Given the description of an element on the screen output the (x, y) to click on. 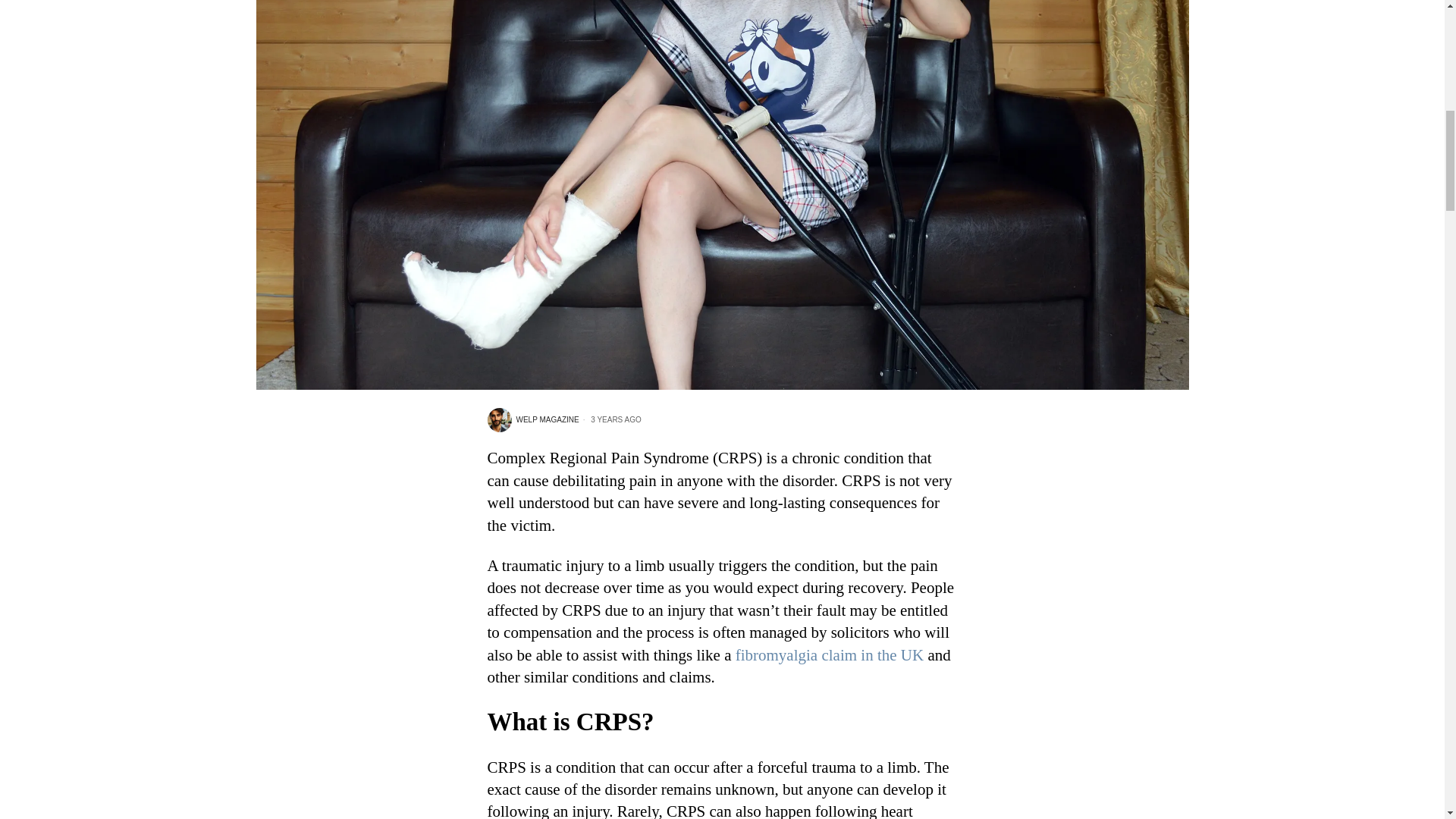
fibromyalgia claim in the UK (829, 655)
23 Dec, 2021 01:50:02 (610, 419)
WELP MAGAZINE (532, 419)
